Given the description of an element on the screen output the (x, y) to click on. 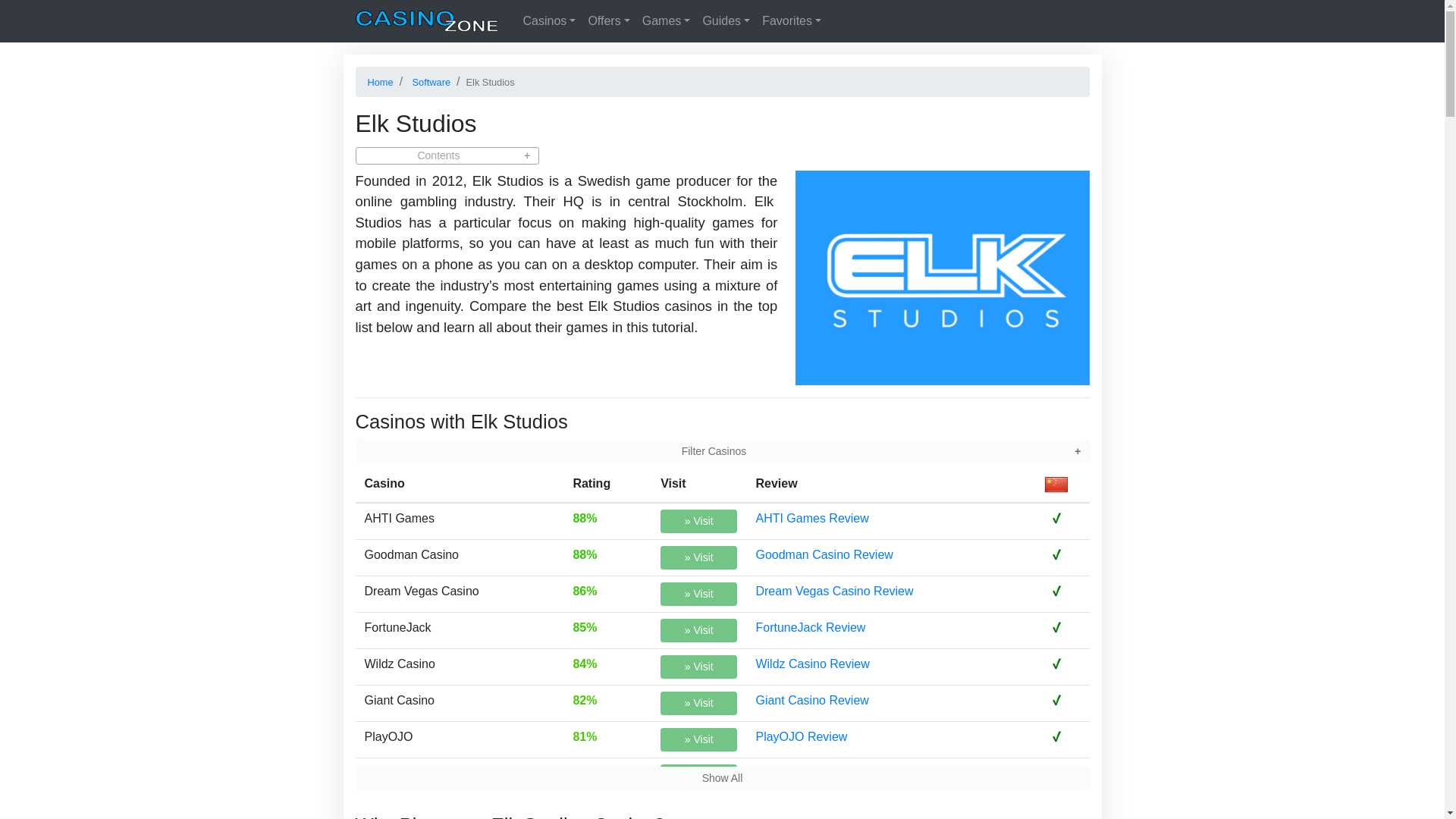
Offers (607, 20)
Guides (725, 20)
Games (666, 20)
Home (427, 20)
Casinos (549, 20)
